Given the description of an element on the screen output the (x, y) to click on. 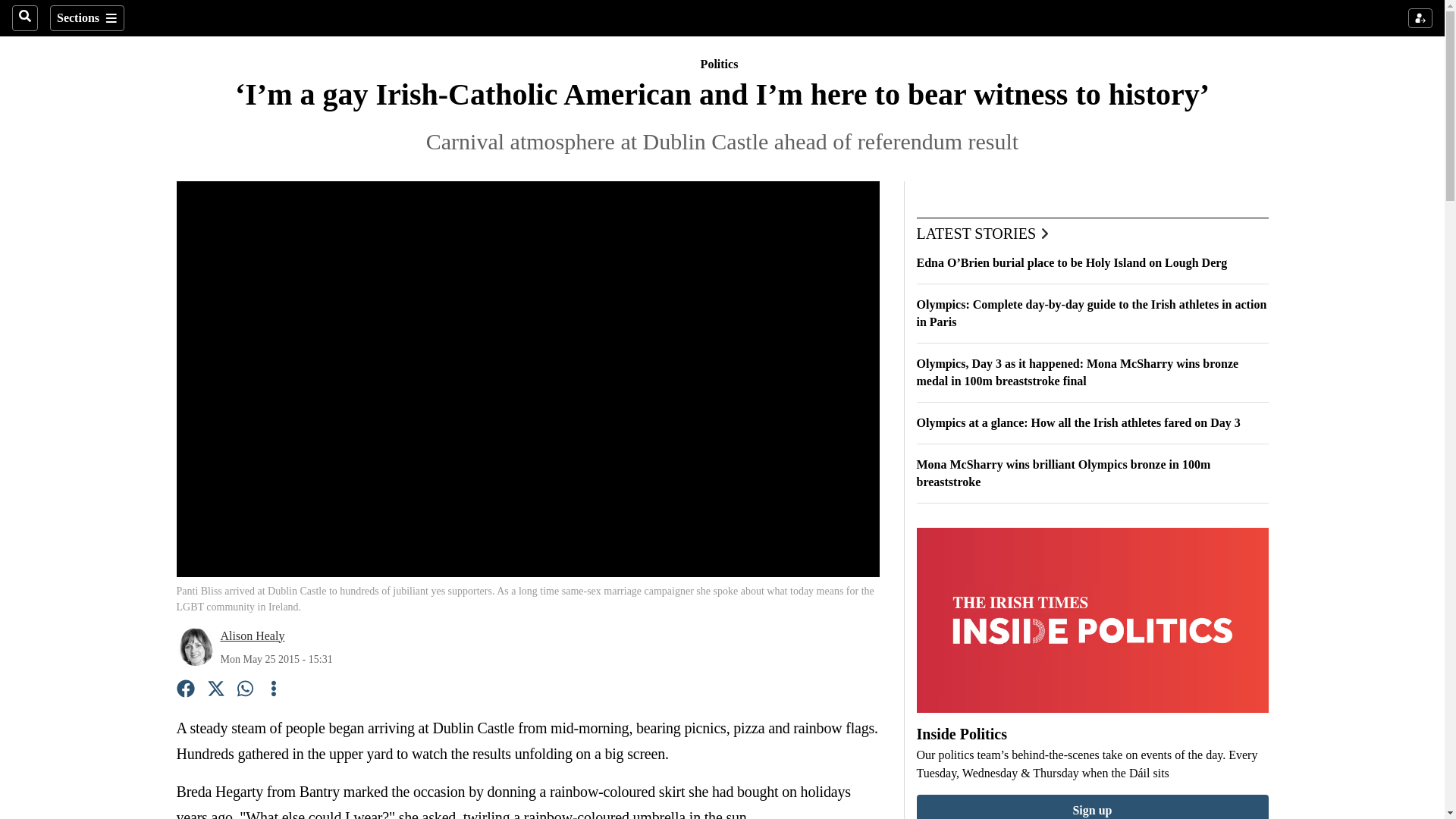
Sections (86, 17)
